Given the description of an element on the screen output the (x, y) to click on. 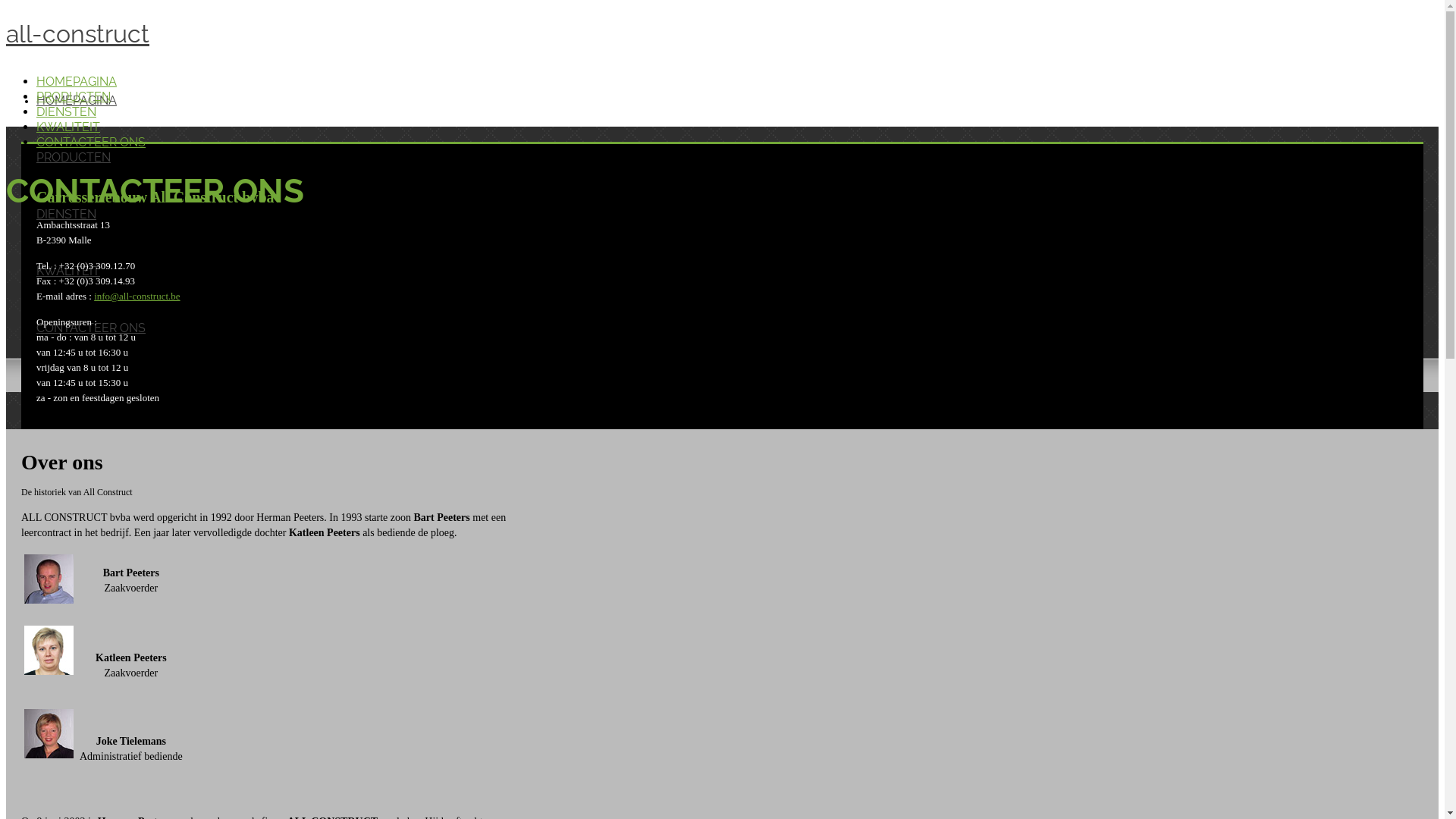
HOMEPAGINA Element type: text (76, 81)
CONTACTEER ONS Element type: text (90, 327)
PRODUCTEN Element type: text (73, 96)
all-construct Element type: text (722, 34)
DIENSTEN Element type: text (66, 214)
HOMEPAGINA Element type: text (76, 100)
DIENSTEN Element type: text (66, 111)
KWALITEIT Element type: text (68, 270)
CONTACTEER ONS Element type: text (90, 141)
PRODUCTEN Element type: text (73, 157)
KWALITEIT Element type: text (68, 126)
info@all-construct.be Element type: text (136, 295)
